Given the description of an element on the screen output the (x, y) to click on. 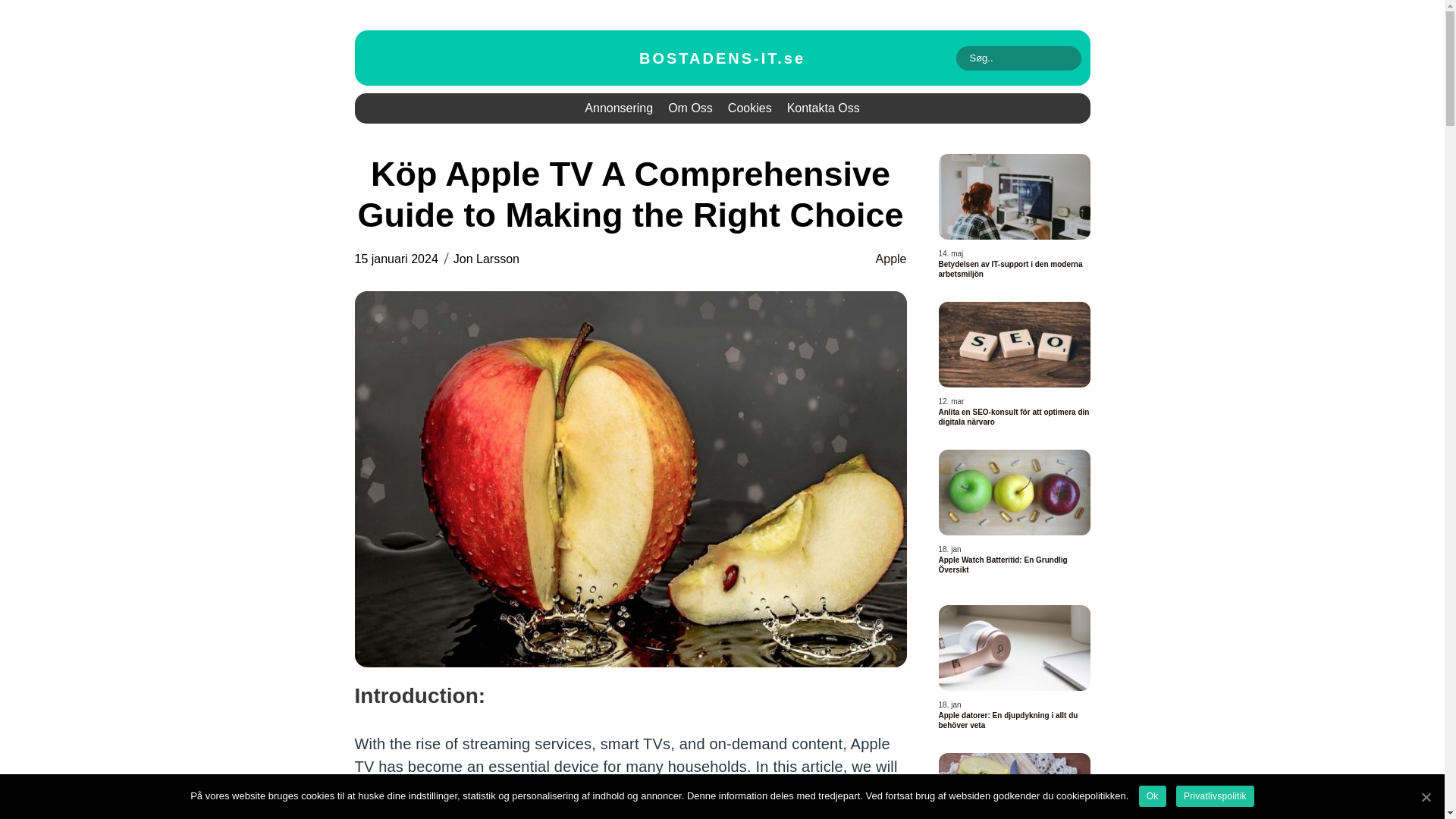
Om Oss (690, 107)
Annonsering (618, 107)
Cookies (749, 107)
Apple (891, 258)
BOSTADENS-IT.se (722, 57)
Kontakta Oss (823, 107)
